Given the description of an element on the screen output the (x, y) to click on. 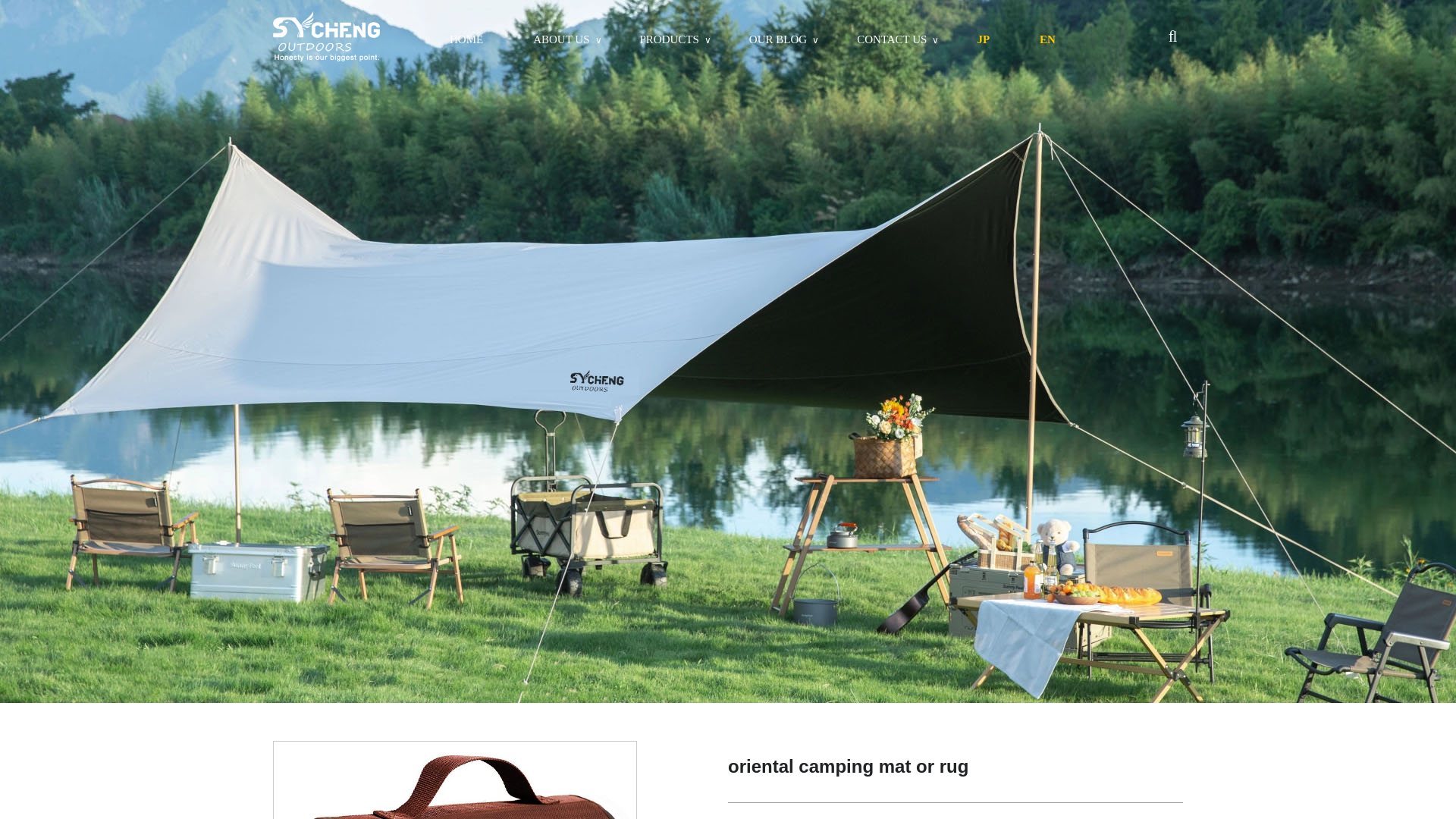
Return Home (326, 37)
PRODUCTS (669, 39)
JP (983, 39)
CONTACT US (891, 39)
ABOUT US (560, 39)
HOME (466, 39)
OUR BLOG (777, 39)
EN (1047, 39)
oriental camping mat or rug (454, 780)
